Given the description of an element on the screen output the (x, y) to click on. 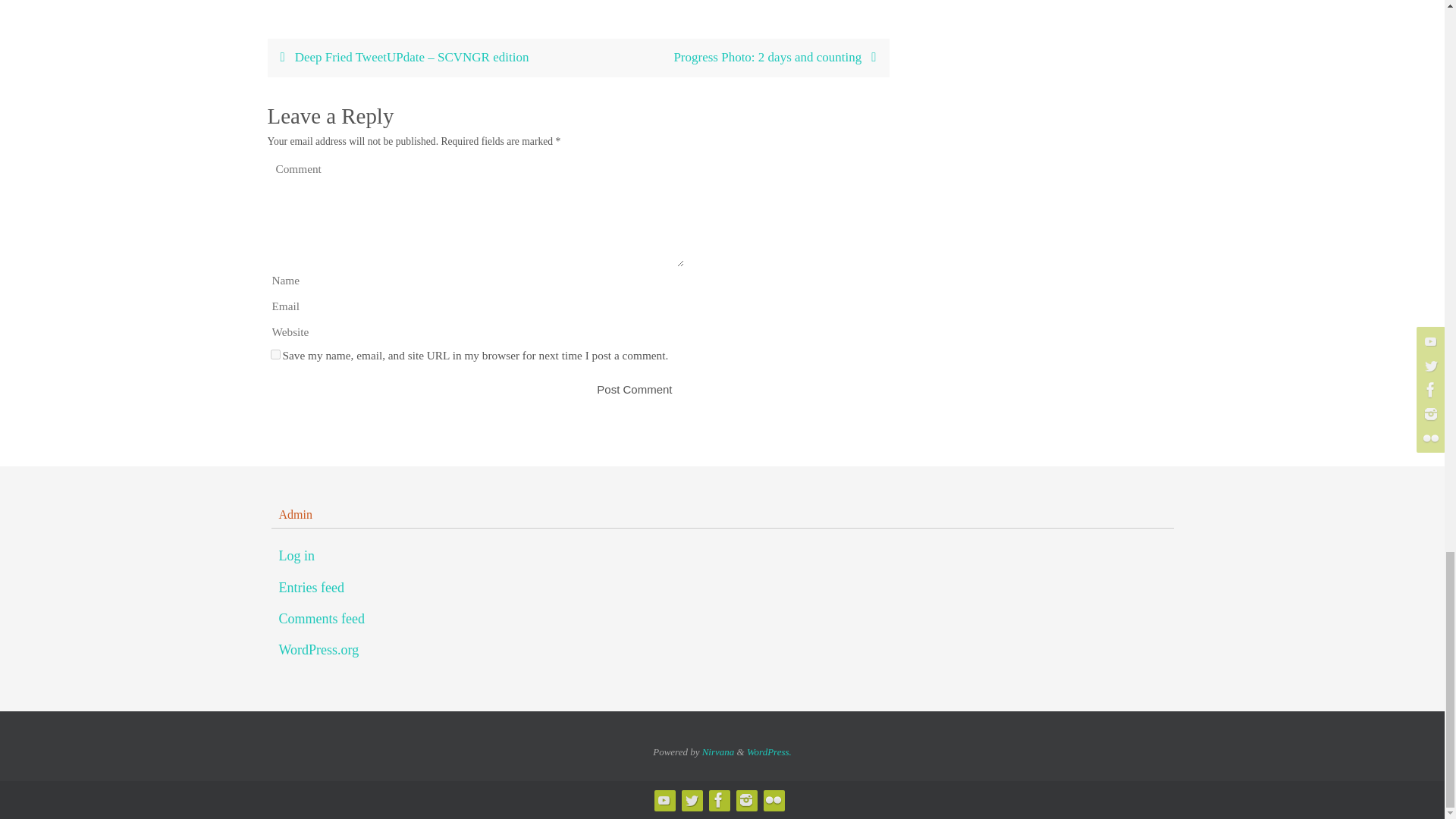
Post Comment (634, 389)
yes (274, 354)
Post Comment (634, 389)
Progress Photo: 2 days and counting (733, 57)
